Given the description of an element on the screen output the (x, y) to click on. 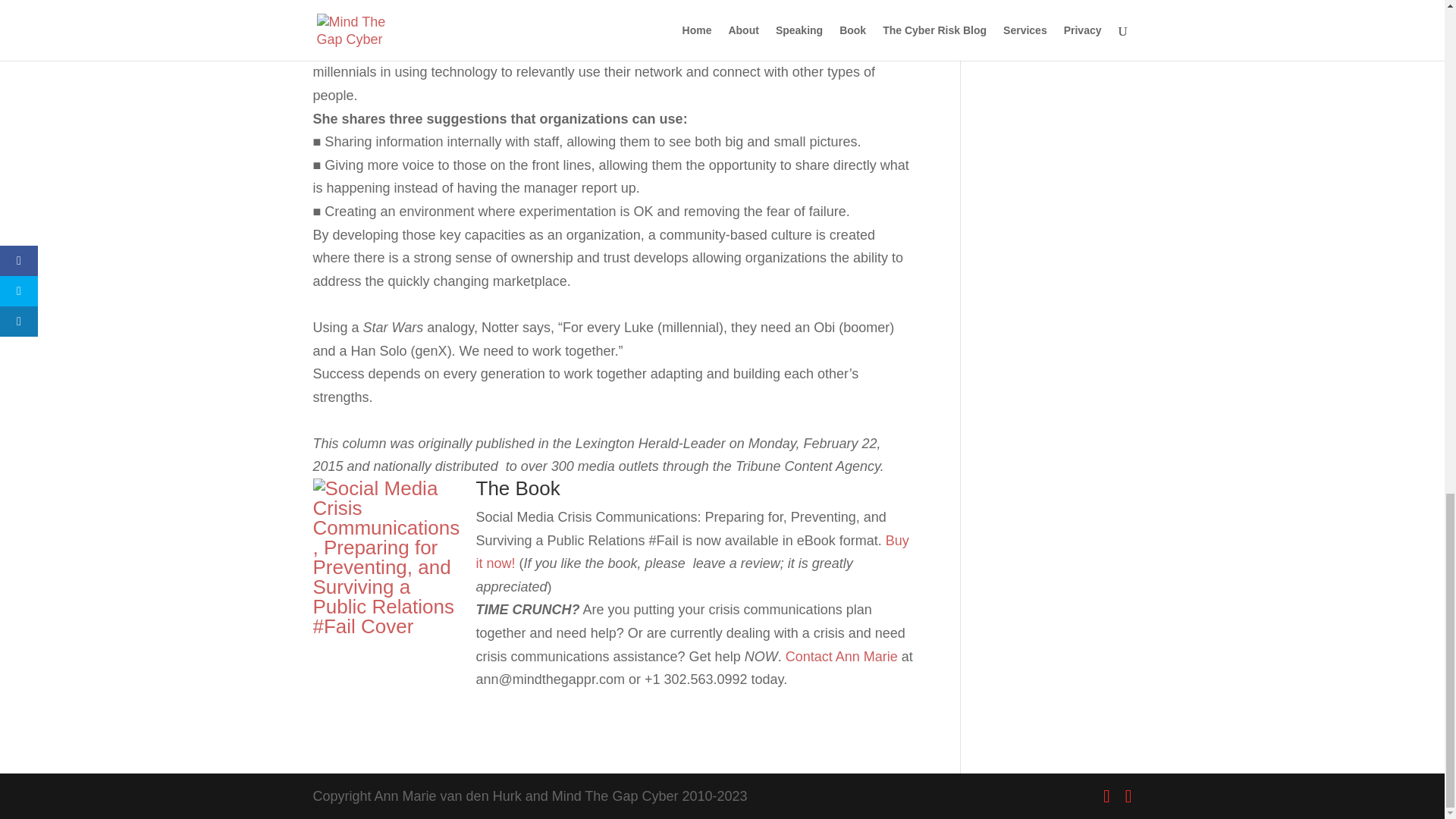
Mind The Gap Public Relations Firm Contact (842, 656)
Buy it now! (692, 552)
Contact Ann Marie (842, 656)
